Given the description of an element on the screen output the (x, y) to click on. 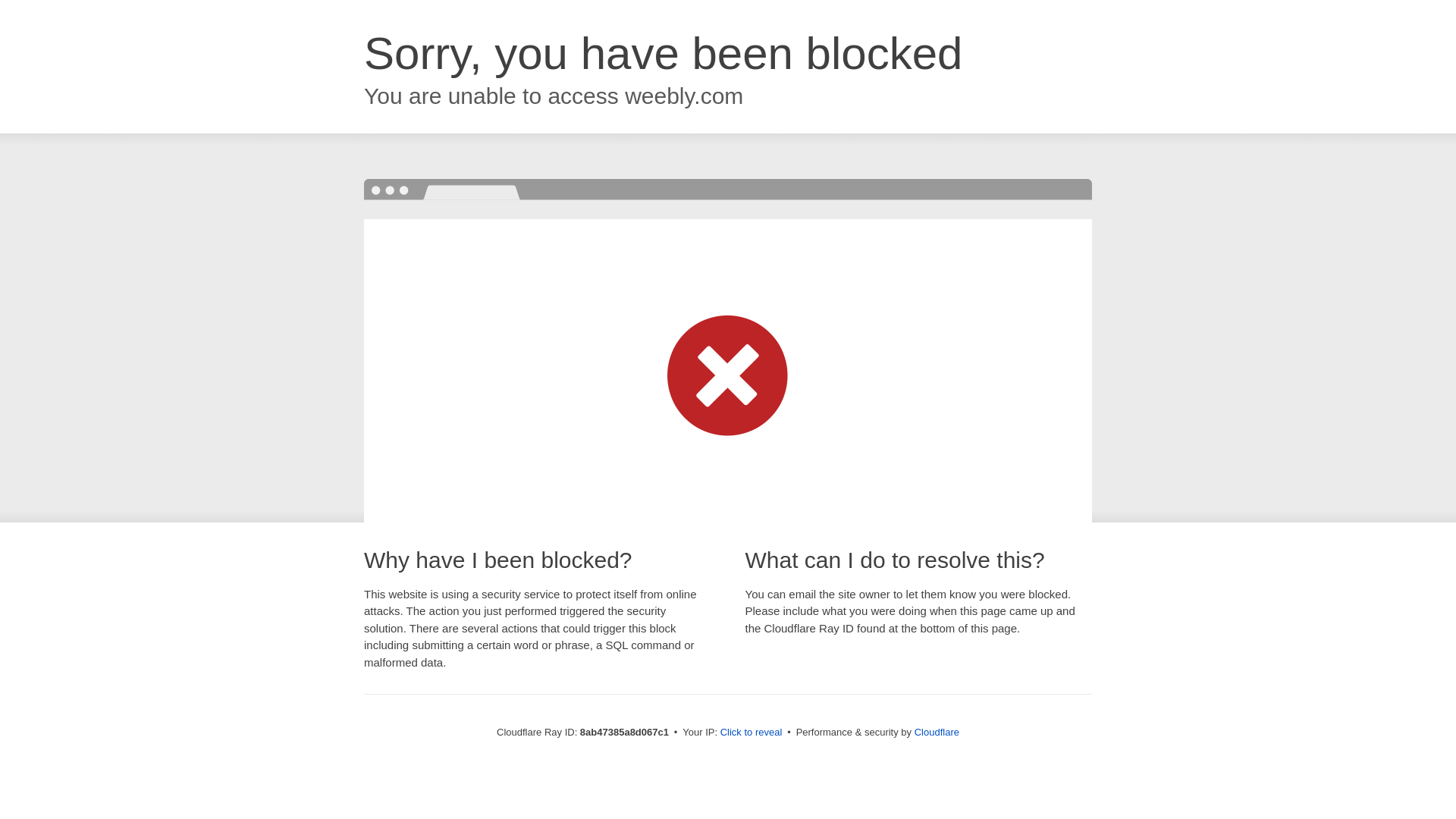
Click to reveal (751, 732)
Cloudflare (936, 731)
